Given the description of an element on the screen output the (x, y) to click on. 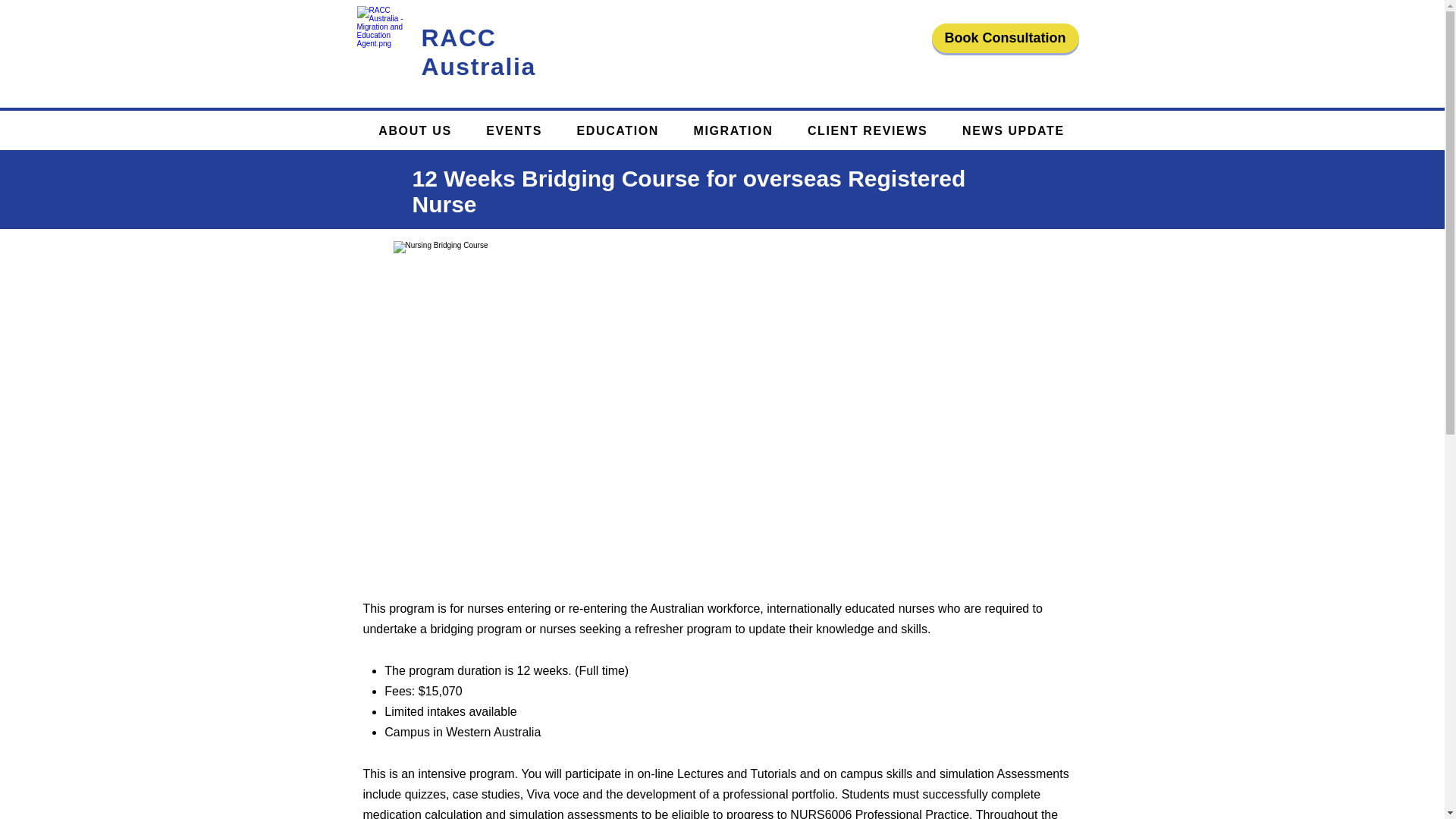
ABOUT US (414, 132)
EVENTS (513, 132)
NEWS UPDATE (1012, 132)
CLIENT REVIEWS (867, 132)
Book Consultation (1004, 38)
EDUCATION (617, 132)
MIGRATION (733, 132)
